Given the description of an element on the screen output the (x, y) to click on. 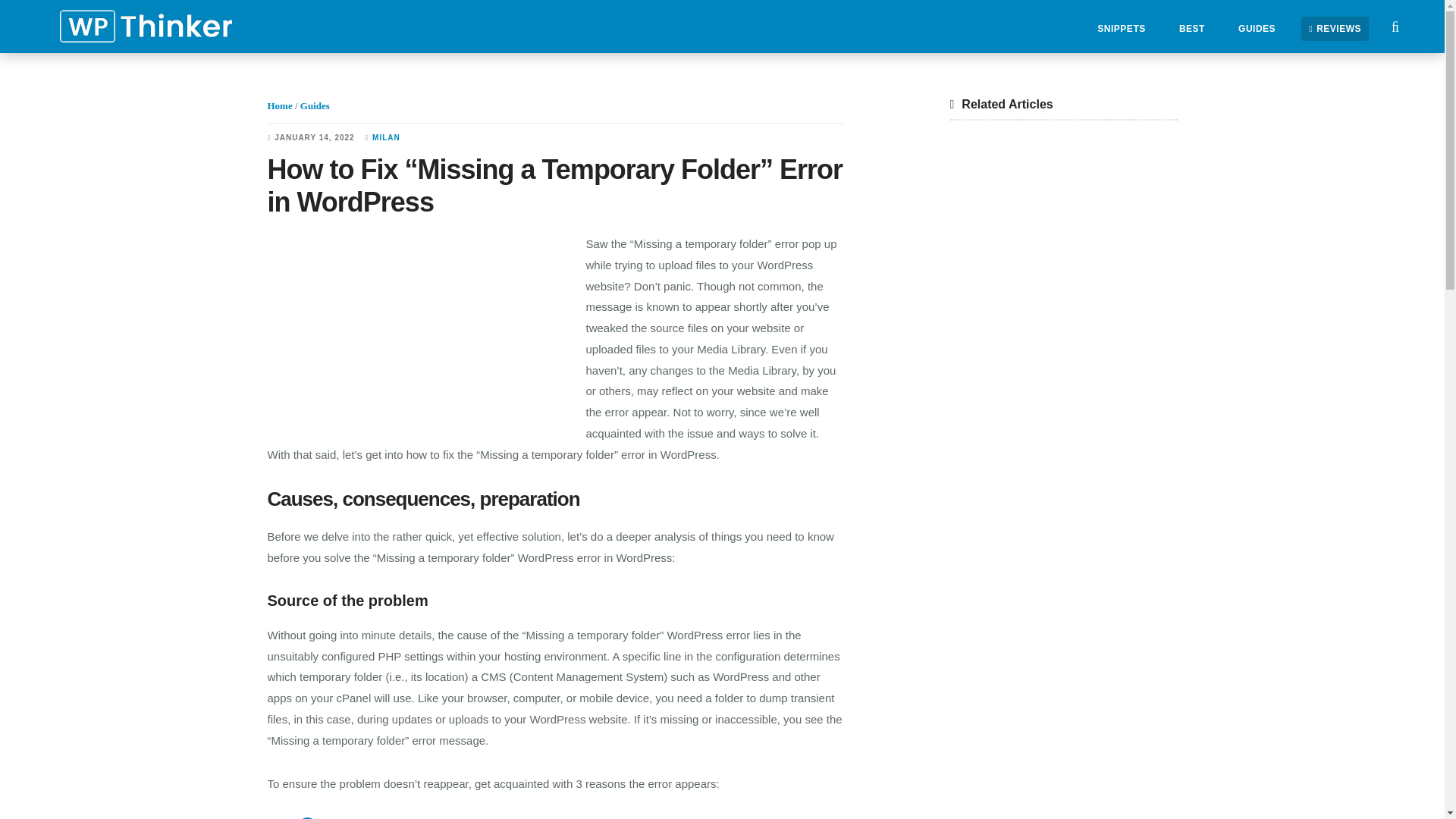
WP THINKER (143, 26)
GUIDES (1256, 28)
REVIEWS (1334, 28)
BEST (1192, 28)
MILAN (386, 137)
Home (279, 105)
SNIPPETS (1121, 28)
Guides (314, 105)
